Given the description of an element on the screen output the (x, y) to click on. 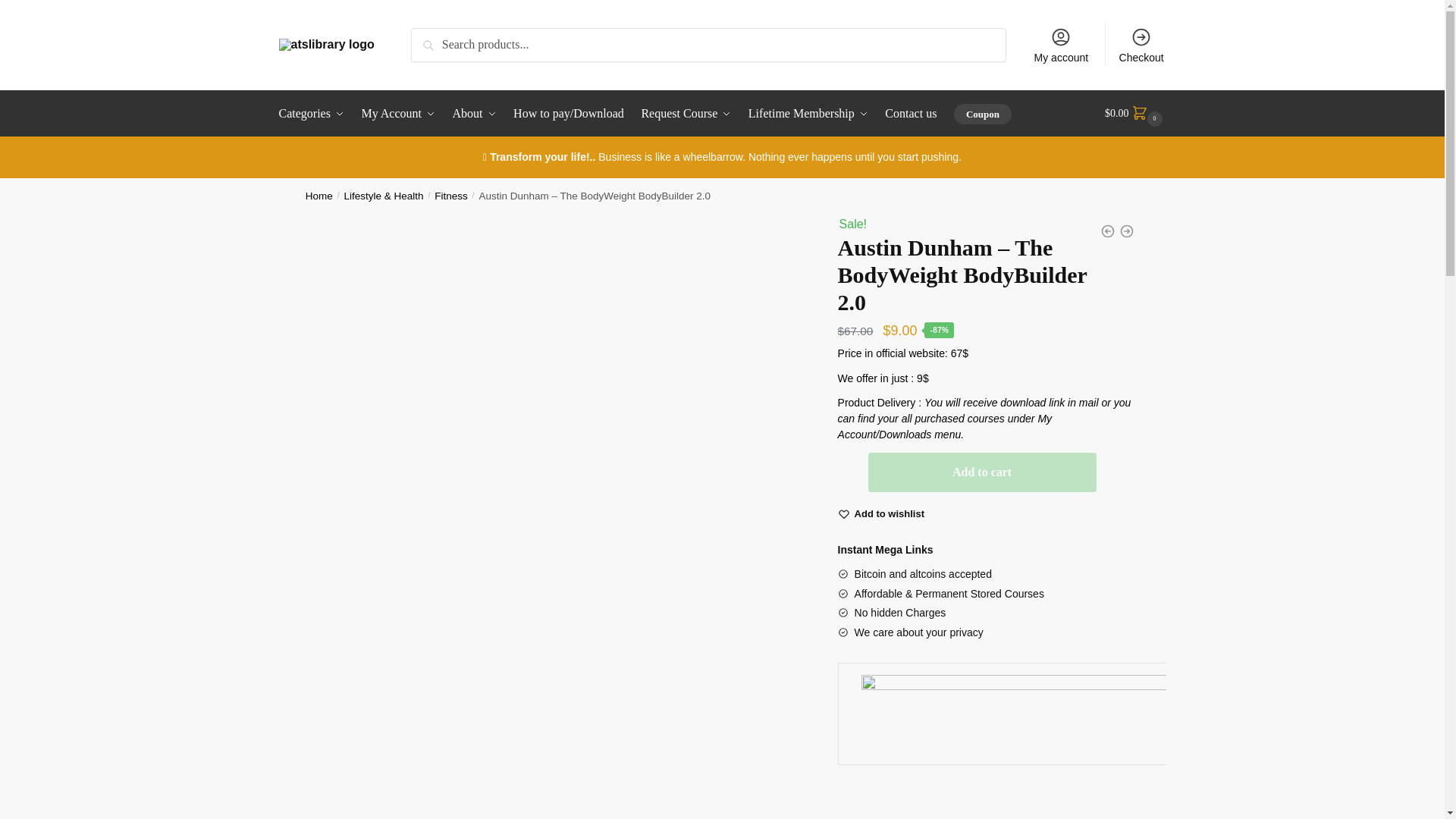
View your shopping cart (1135, 113)
About (474, 113)
Search (431, 38)
Wishlist (889, 513)
My Account (398, 113)
Categories (314, 113)
My account (1061, 44)
Checkout (1141, 44)
